Given the description of an element on the screen output the (x, y) to click on. 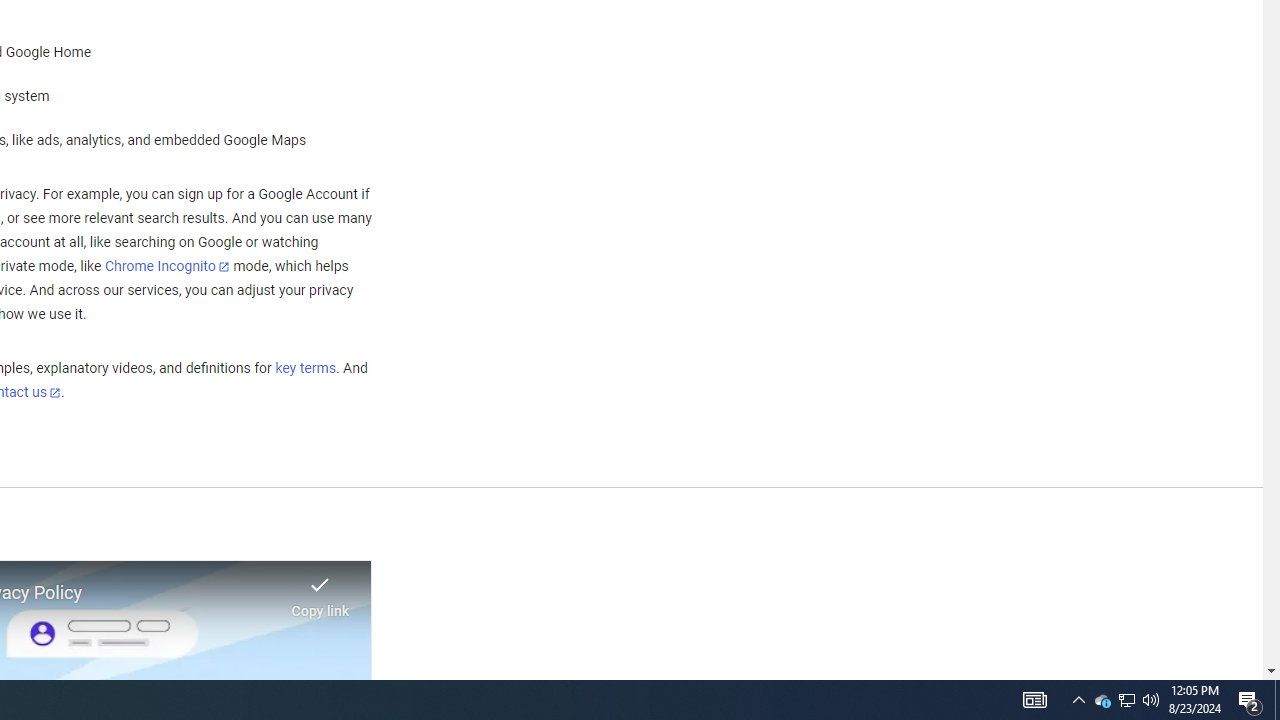
key terms (305, 369)
Chrome Incognito (166, 266)
Link copied to clipboard (319, 591)
